Given the description of an element on the screen output the (x, y) to click on. 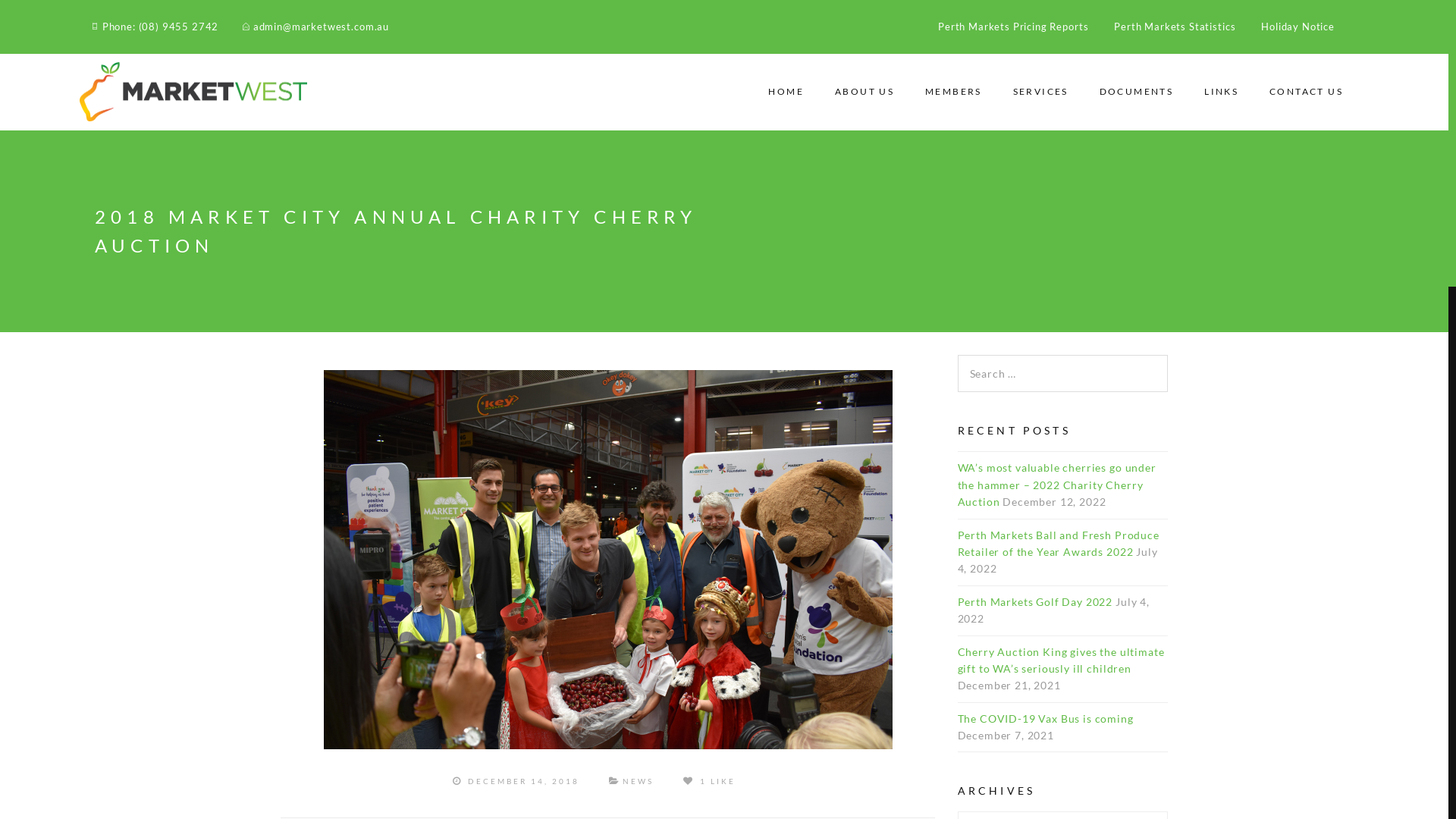
Holiday Notice Element type: text (1297, 26)
Services Element type: text (100, 114)
Perth Markets Statistics Element type: text (1174, 26)
Search Element type: text (47, 17)
Members Element type: text (100, 81)
HOME Element type: text (785, 91)
DOCUMENTS Element type: text (1136, 91)
Links Element type: text (100, 180)
SERVICES Element type: text (1040, 91)
Contact us Element type: text (100, 213)
Home Element type: text (100, 16)
 1 LIKE Element type: text (709, 781)
MEMBERS Element type: text (953, 91)
Perth Markets Pricing Reports Element type: text (1013, 26)
ABOUT US Element type: text (864, 91)
NEWS Element type: text (637, 780)
CONTACT US Element type: text (1306, 91)
Perth Markets Golf Day 2022 Element type: text (1034, 601)
About Us Element type: text (100, 48)
Documents Element type: text (100, 147)
LINKS Element type: text (1220, 91)
The COVID-19 Vax Bus is coming Element type: text (1044, 718)
